Given the description of an element on the screen output the (x, y) to click on. 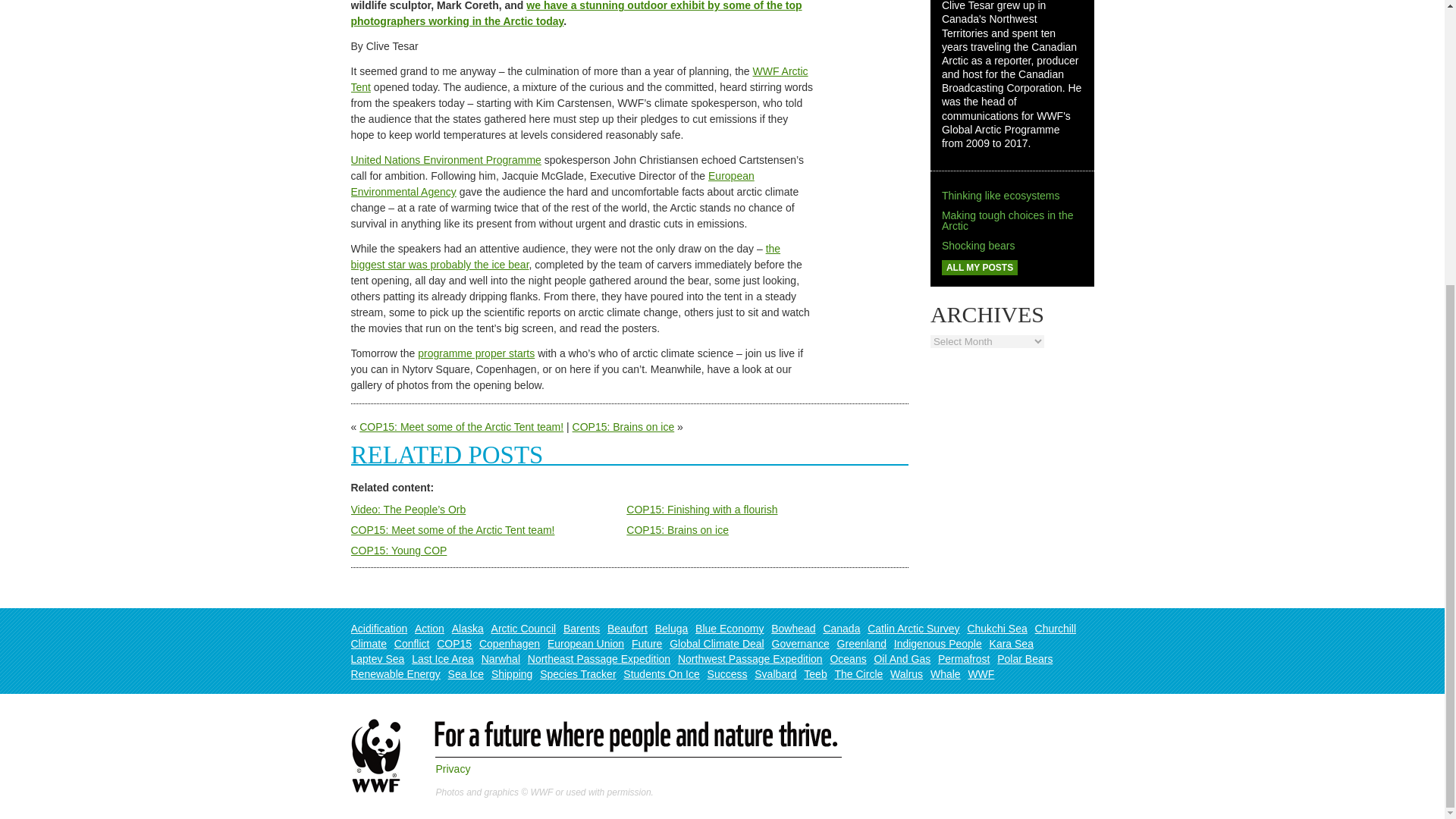
Shocking bears (978, 245)
Link to Making tough choices in the Arctic (1008, 220)
European Environmental Agency (552, 183)
COP15: Meet some of the Arctic Tent team! (461, 426)
COP15: Finishing with a flourish (701, 509)
WWF Arctic Tent (579, 79)
programme proper starts (475, 353)
Permanent link to COP15: Meet some of the Arctic Tent team! (452, 530)
COP15: Meet some of the Arctic Tent team! (452, 530)
Making tough choices in the Arctic (1008, 220)
